Given the description of an element on the screen output the (x, y) to click on. 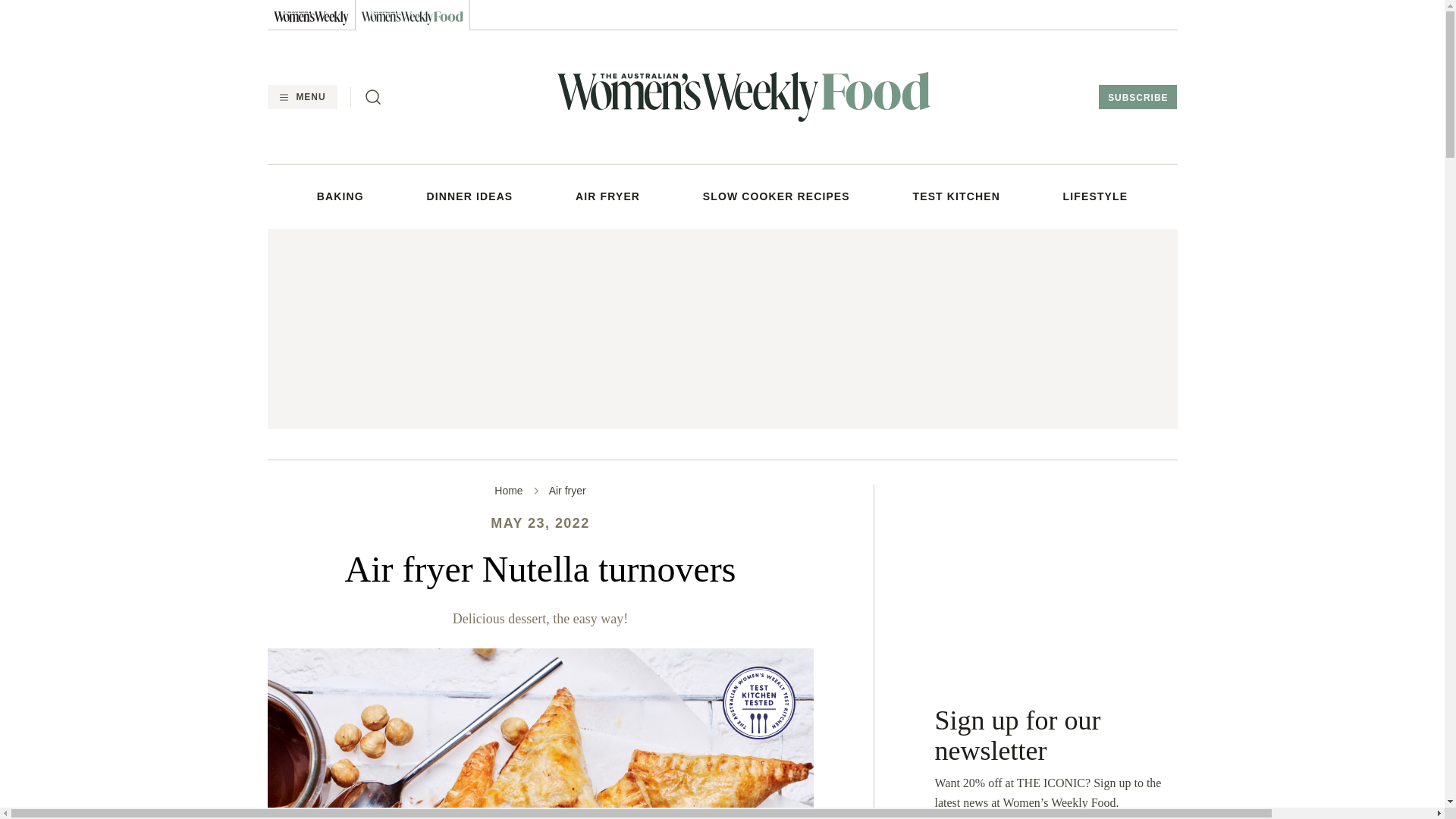
BAKING (340, 196)
DINNER IDEAS (469, 196)
TEST KITCHEN (956, 196)
MENU (301, 96)
SLOW COOKER RECIPES (776, 196)
SUBSCRIBE (1137, 96)
LIFESTYLE (1095, 196)
AIR FRYER (607, 196)
